Given the description of an element on the screen output the (x, y) to click on. 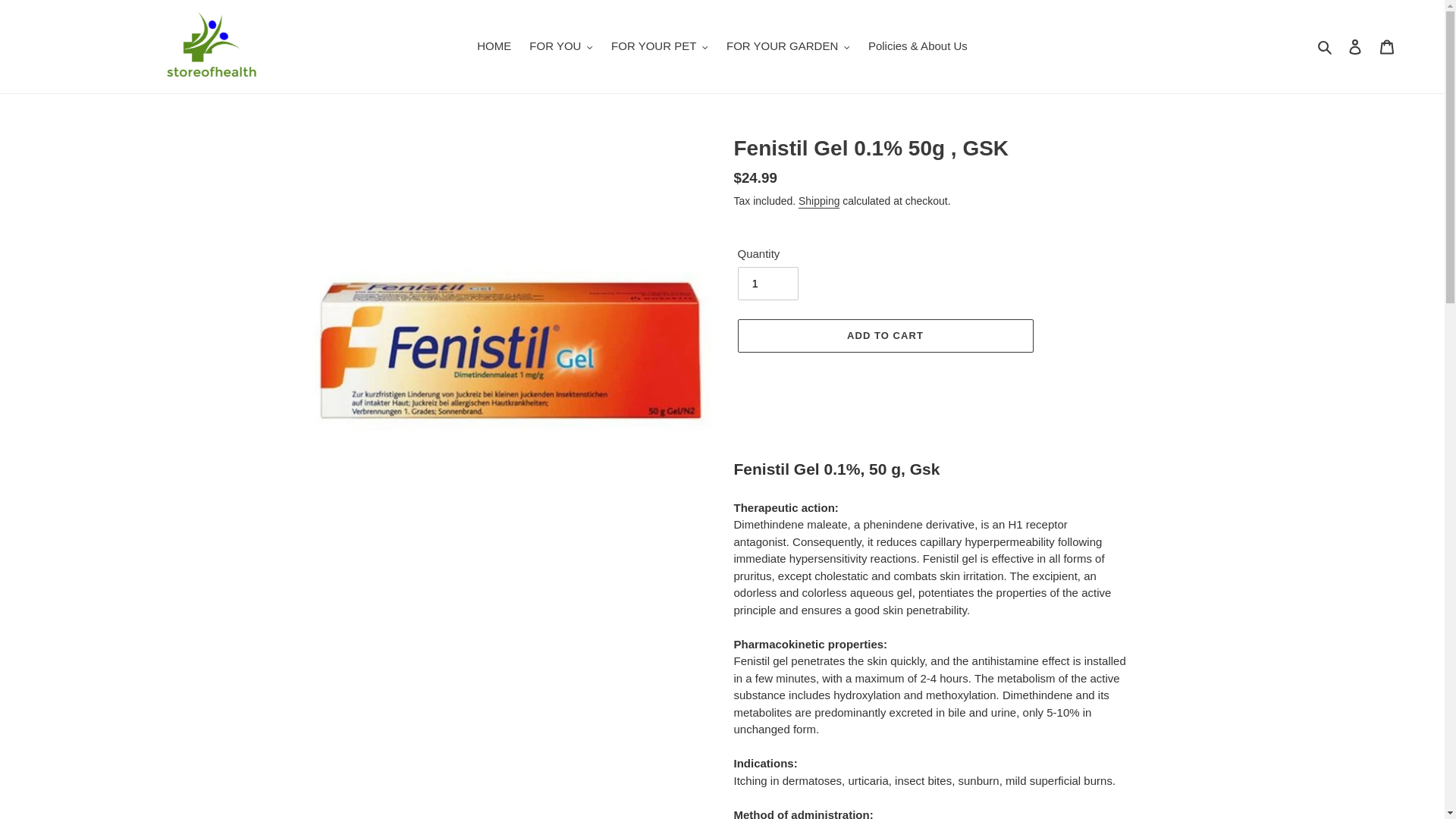
FOR YOU (560, 46)
HOME (493, 46)
FOR YOUR PET (660, 46)
1 (766, 283)
